Given the description of an element on the screen output the (x, y) to click on. 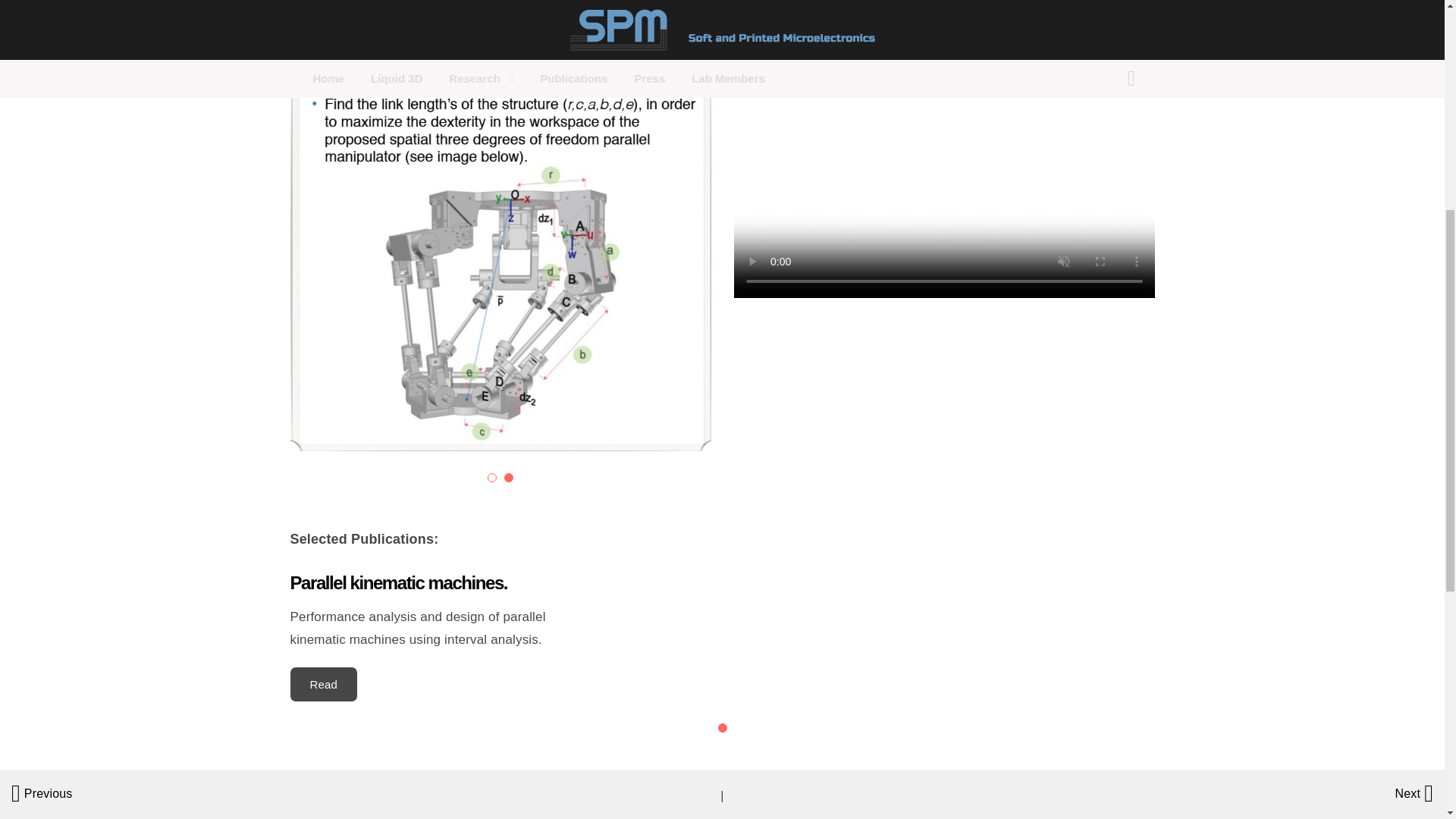
Read (322, 684)
Previous (41, 791)
Next (1413, 791)
